Given the description of an element on the screen output the (x, y) to click on. 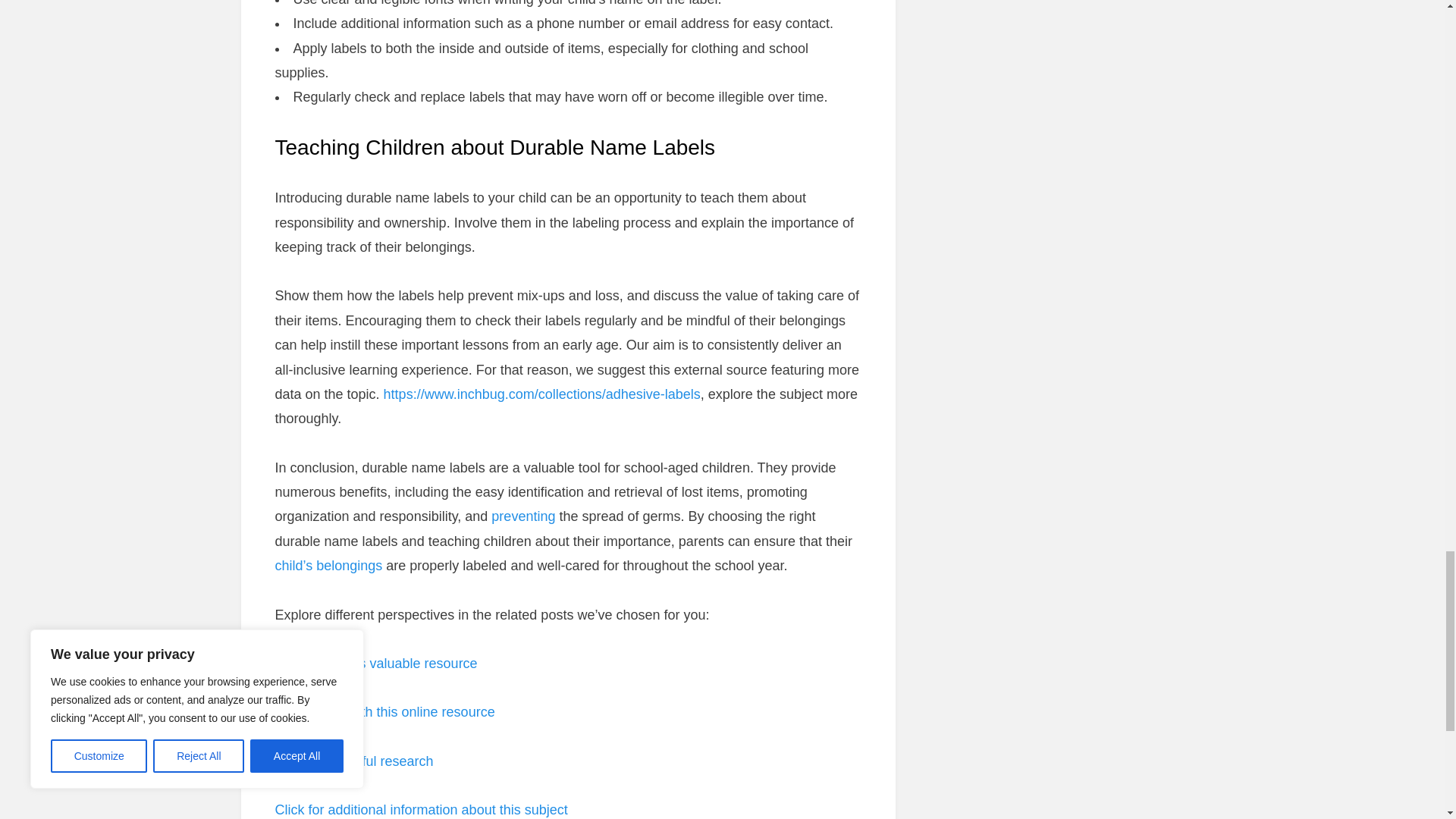
Read this helpful research (353, 761)
Learn from this valuable resource (376, 663)
preventing (523, 516)
Learn more with this online resource (385, 711)
Click for additional information about this subject (421, 809)
